Given the description of an element on the screen output the (x, y) to click on. 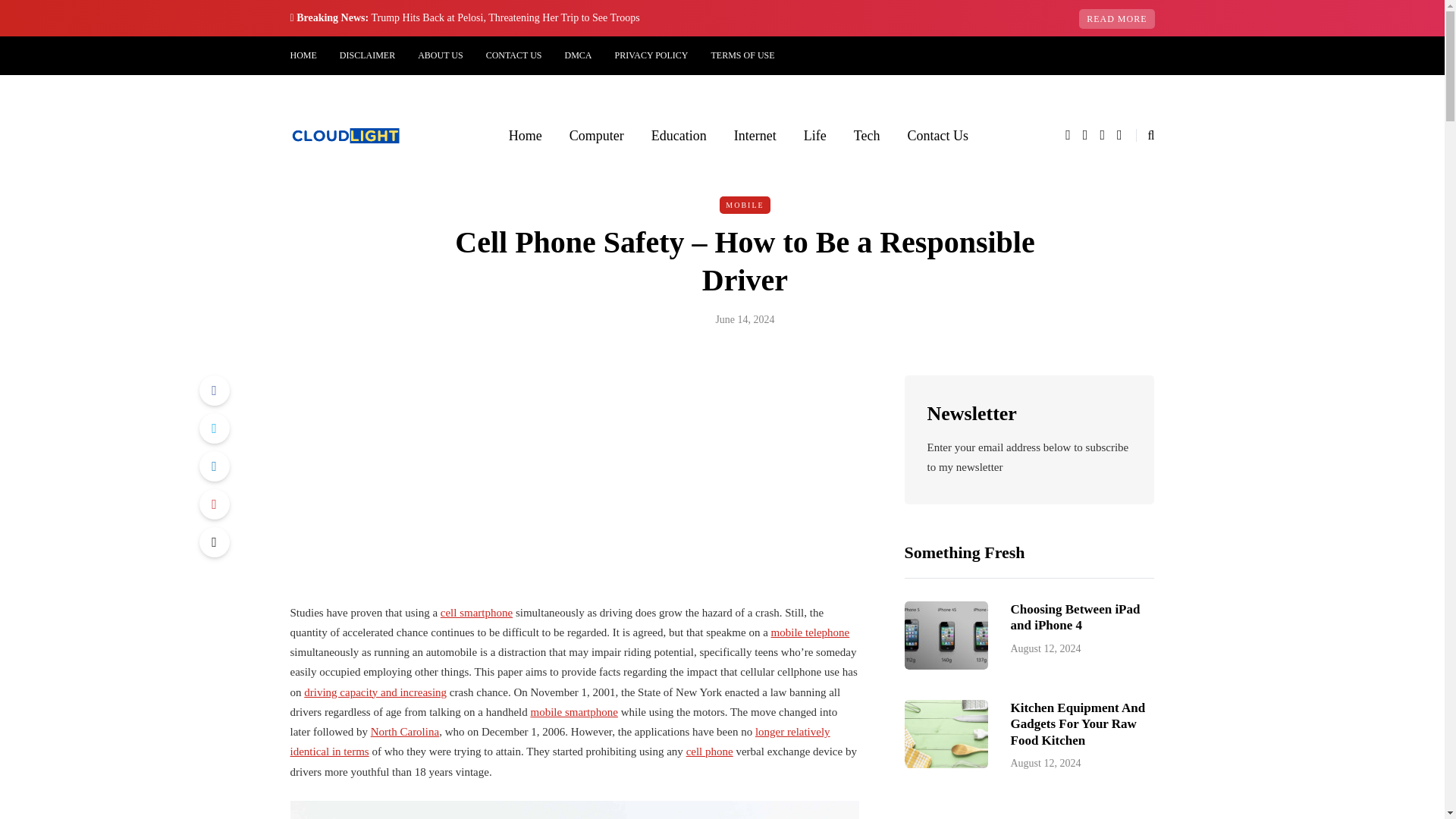
DMCA (577, 55)
Education (678, 135)
DISCLAIMER (367, 55)
Life (815, 135)
Internet (755, 135)
CONTACT US (513, 55)
Tweet this (213, 428)
Share with Facebook (213, 390)
Share by Email (213, 542)
READ MORE (1116, 18)
